Given the description of an element on the screen output the (x, y) to click on. 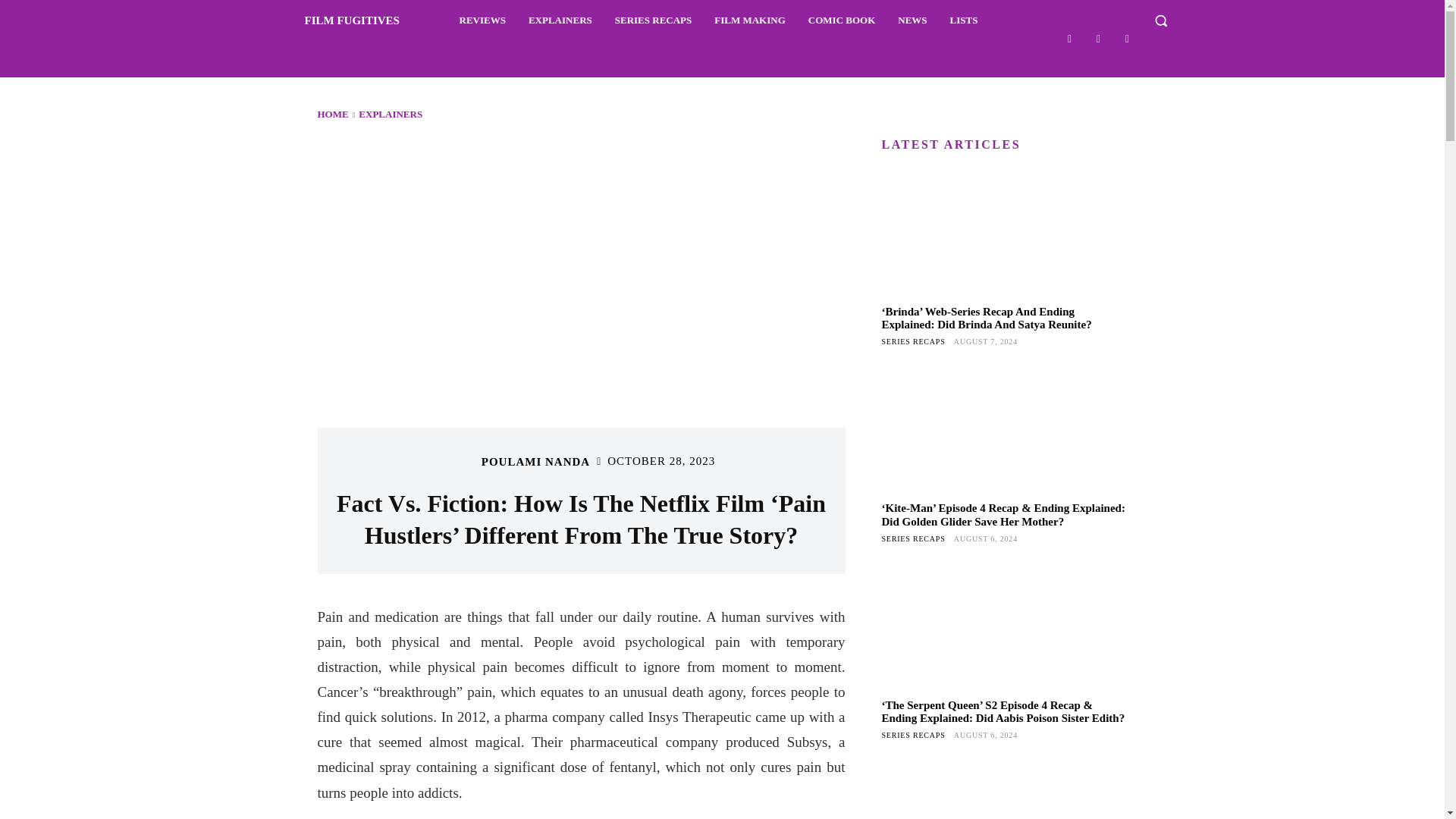
FILM MAKING (749, 20)
LISTS (963, 20)
EXPLAINERS (560, 20)
NEWS (911, 20)
Film Fugitives (333, 20)
FILM FUGITIVES (333, 20)
REVIEWS (482, 20)
SERIES RECAPS (653, 20)
Facebook (1069, 38)
POULAMI NANDA (535, 461)
HOME (332, 113)
EXPLAINERS (390, 113)
COMIC BOOK (841, 20)
